Given the description of an element on the screen output the (x, y) to click on. 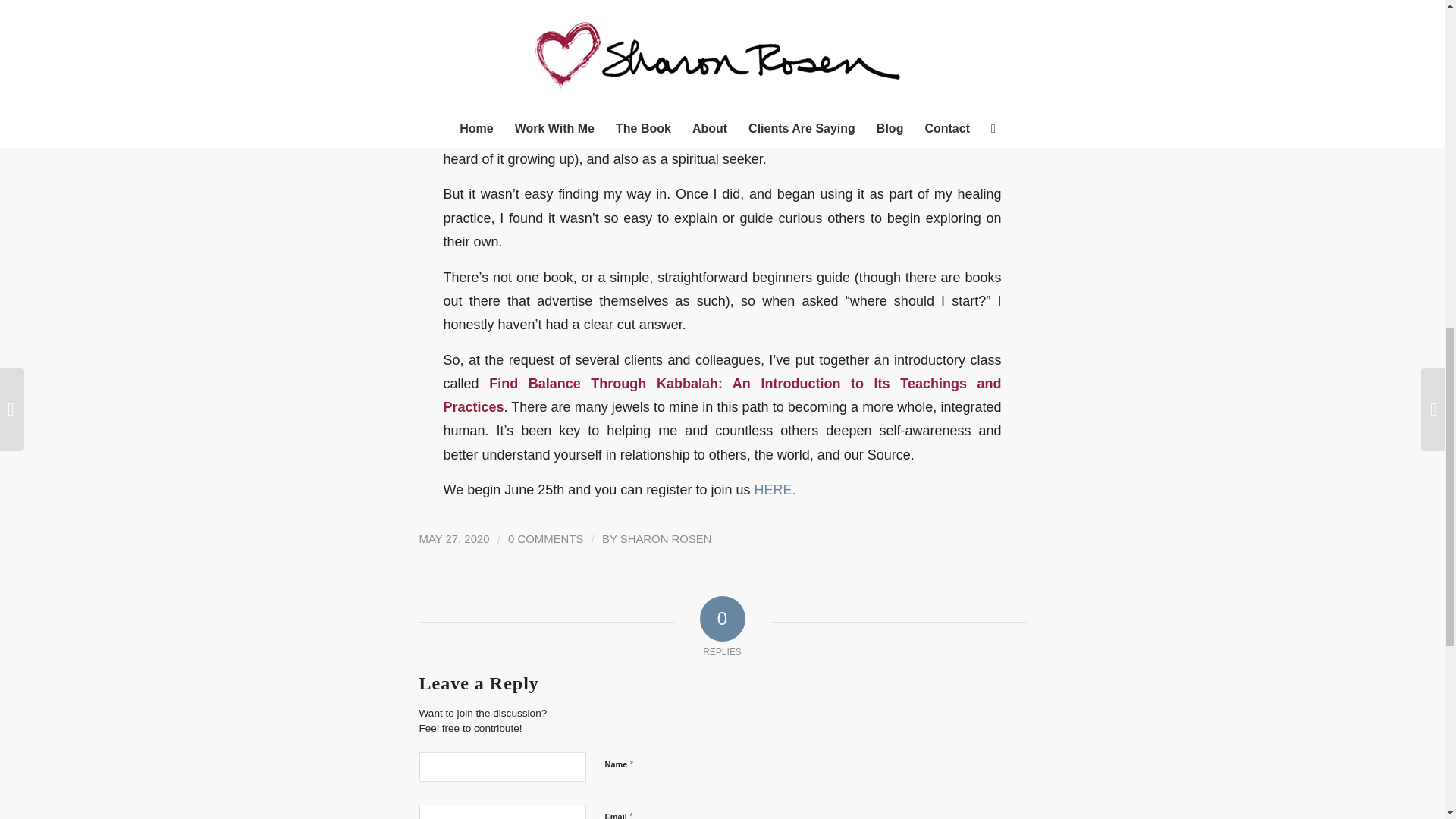
HERE. (774, 489)
Posts by Sharon Rosen (665, 539)
0 COMMENTS (545, 539)
SHARON ROSEN (665, 539)
